Given the description of an element on the screen output the (x, y) to click on. 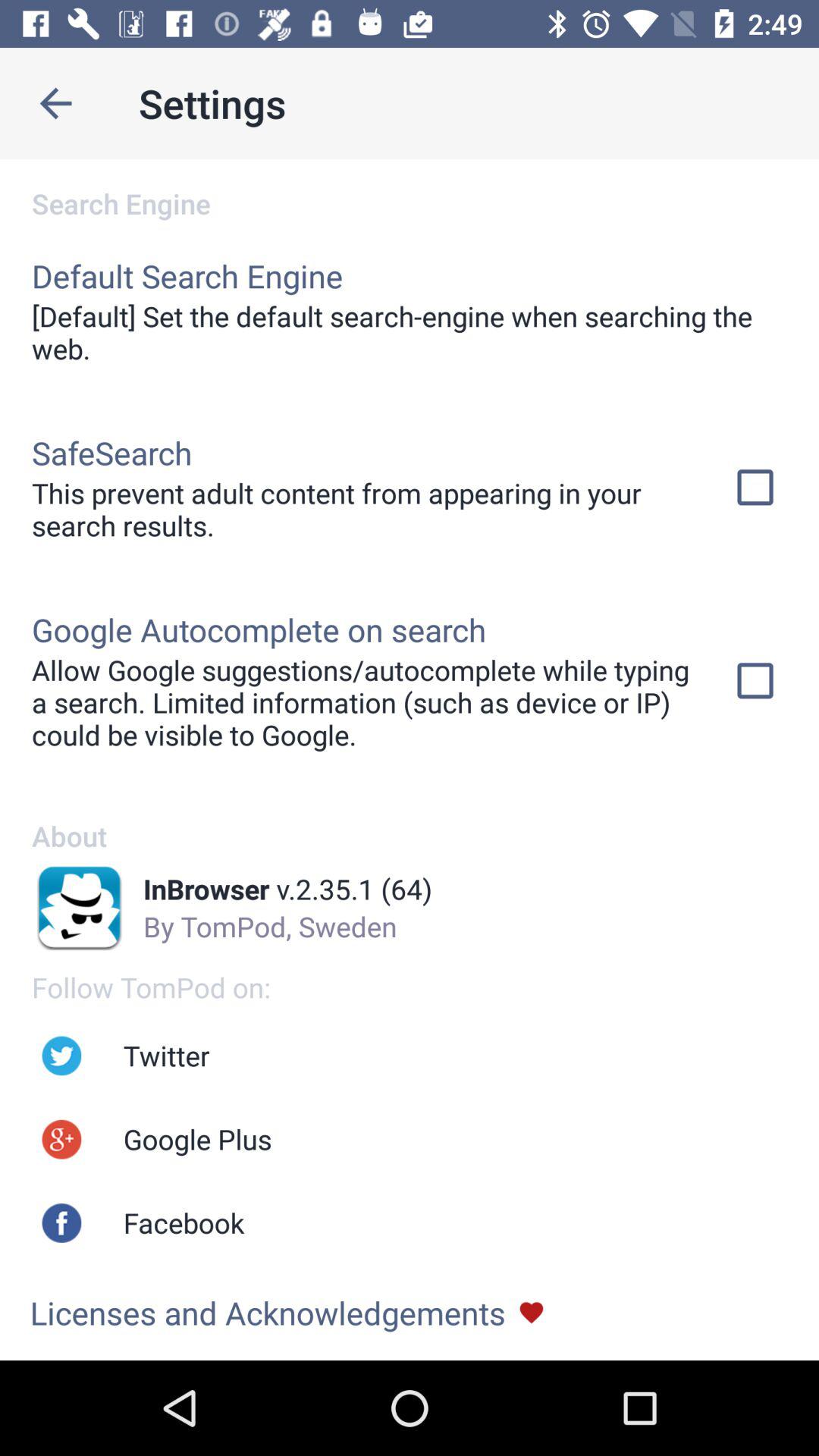
turn off the default set the (409, 332)
